Given the description of an element on the screen output the (x, y) to click on. 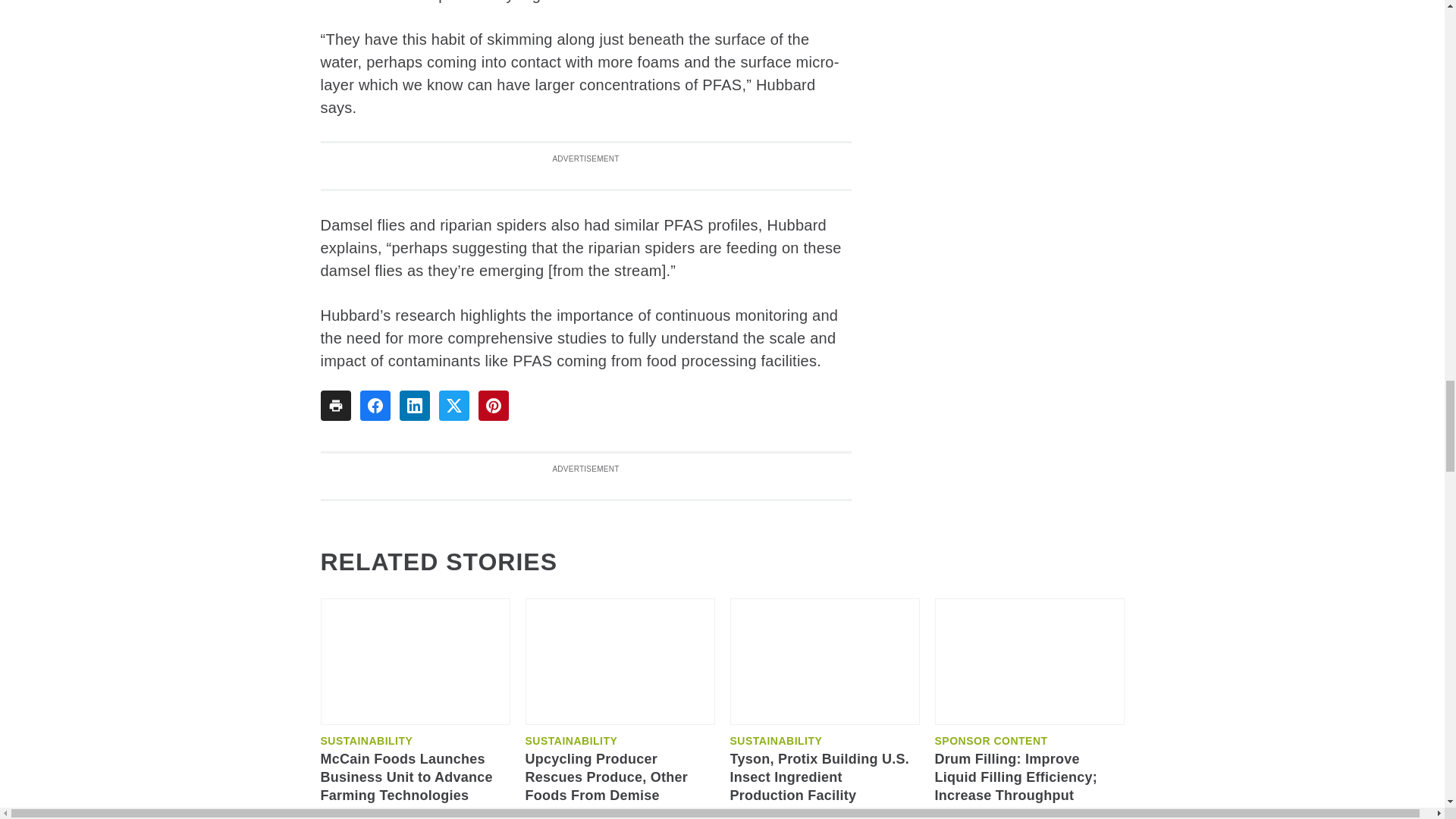
Share To pinterest (492, 405)
Share To facebook (374, 405)
Share To twitter (453, 405)
Share To print (335, 405)
Share To linkedin (413, 405)
